Given the description of an element on the screen output the (x, y) to click on. 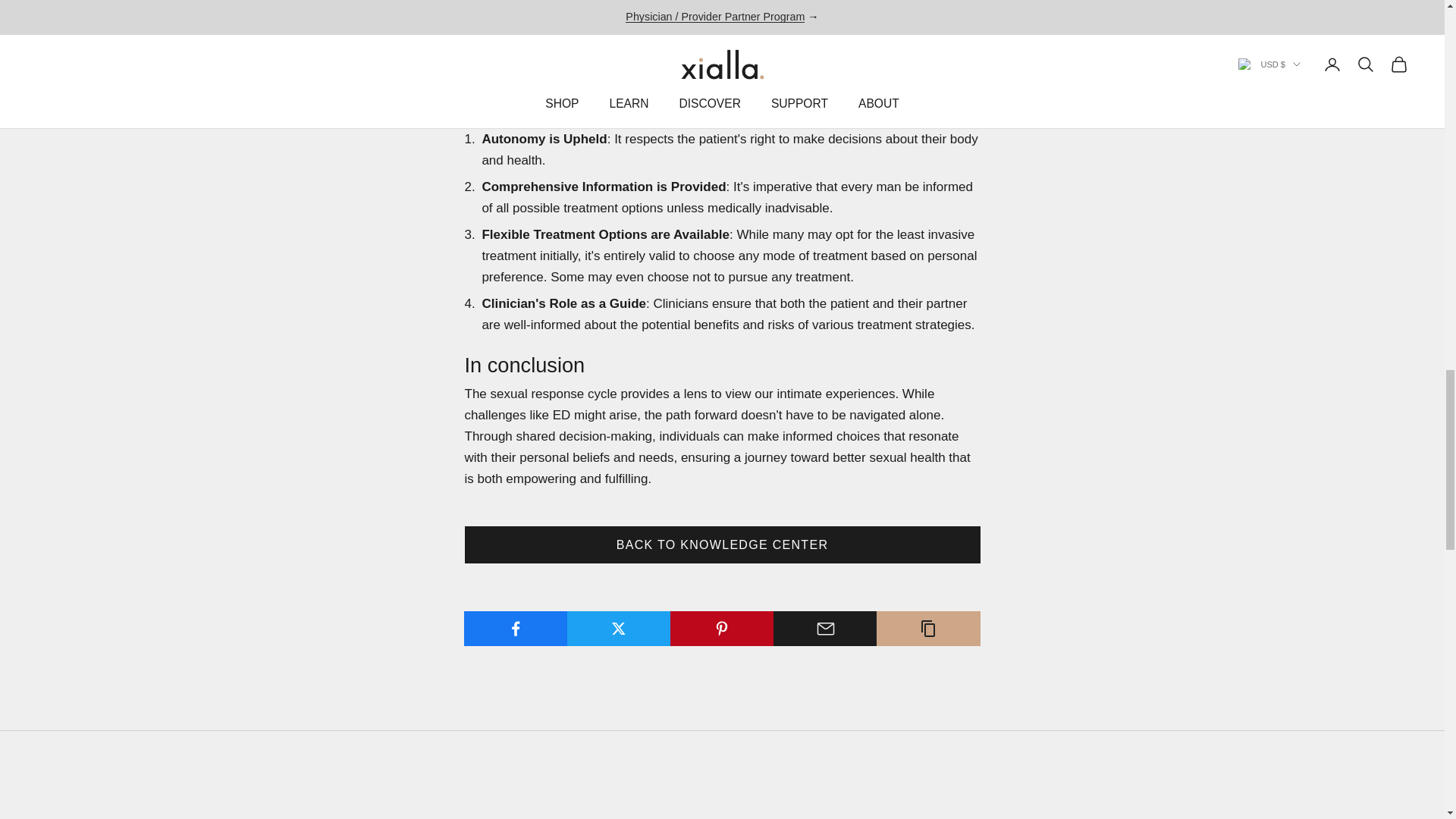
BACK TO KNOWLEDGE CENTER (721, 544)
